Given the description of an element on the screen output the (x, y) to click on. 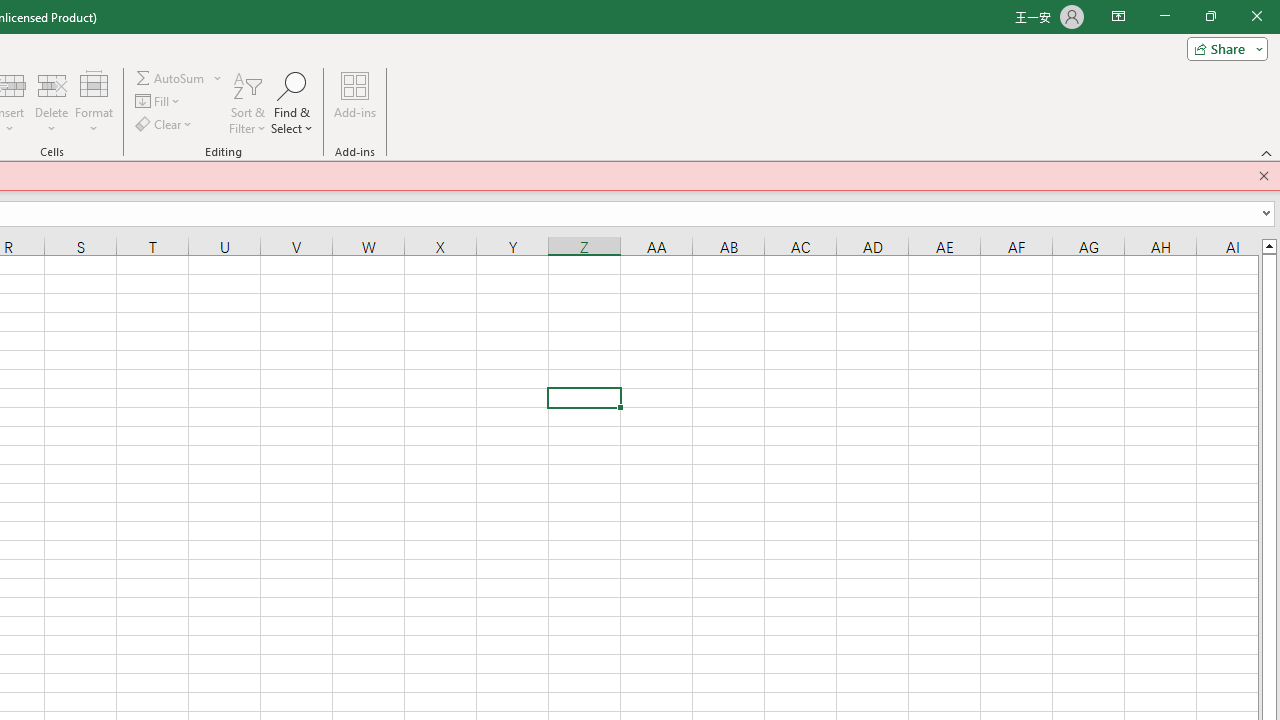
Delete (51, 102)
